Given the description of an element on the screen output the (x, y) to click on. 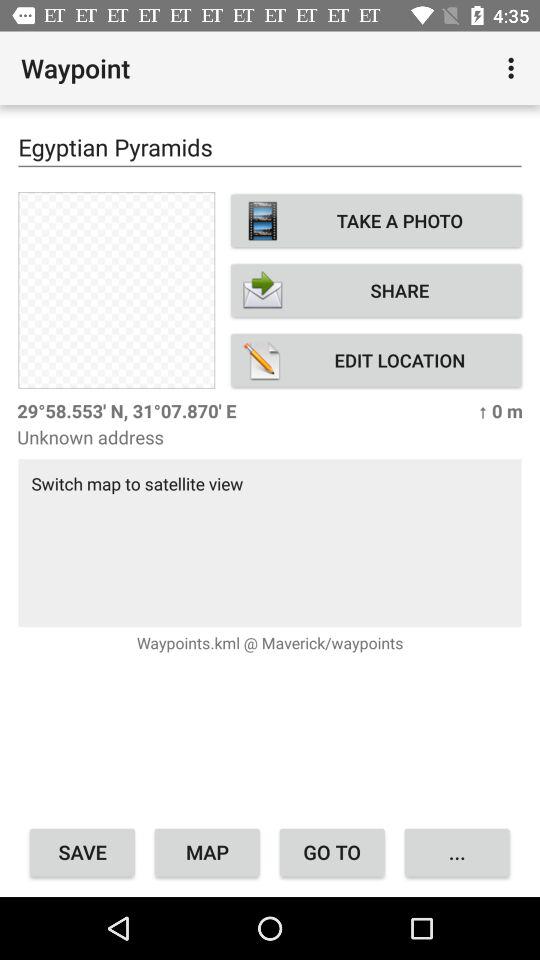
tap app to the right of the waypoint icon (513, 67)
